Given the description of an element on the screen output the (x, y) to click on. 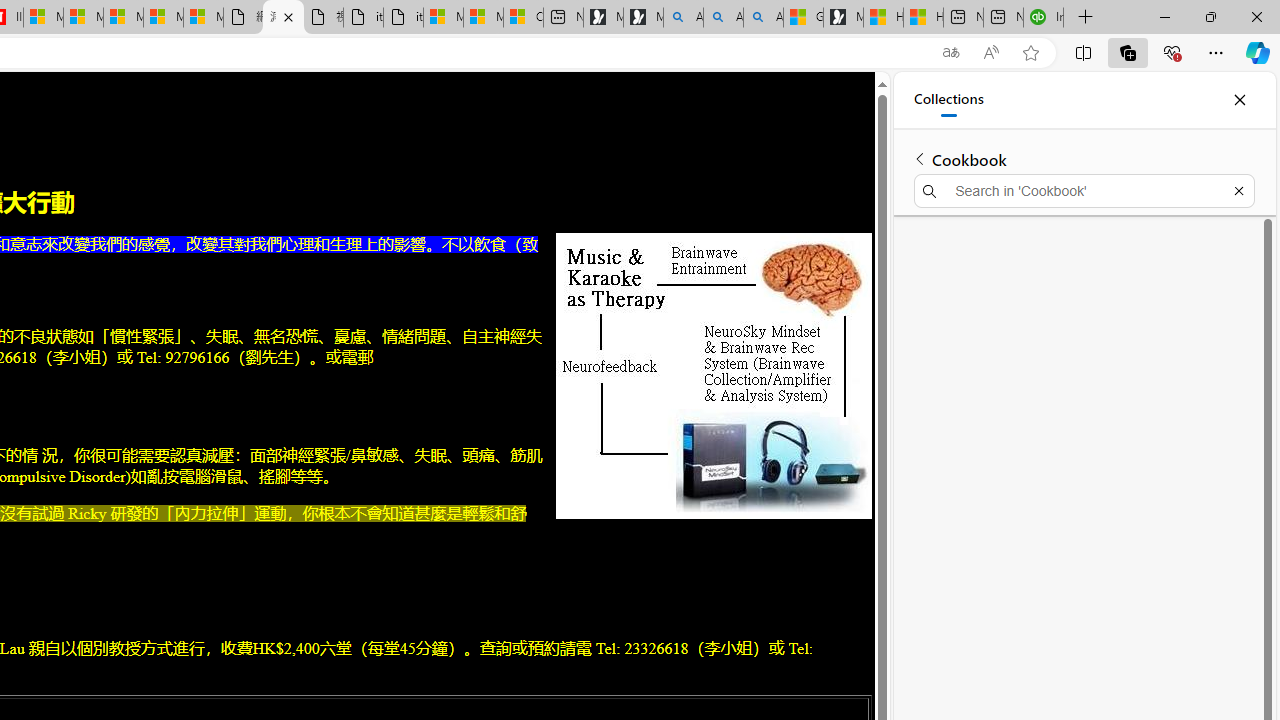
Alabama high school quarterback dies - Search (683, 17)
itconcepthk.com/projector_solutions.mp4 (403, 17)
Split screen (1083, 52)
Show translate options (950, 53)
Microsoft Services Agreement (83, 17)
Collections (948, 99)
Consumer Health Data Privacy Policy (523, 17)
Back to list of collections (920, 158)
Alabama high school quarterback dies - Search Videos (763, 17)
Copilot (Ctrl+Shift+.) (1258, 52)
Minimize (1164, 16)
